Given the description of an element on the screen output the (x, y) to click on. 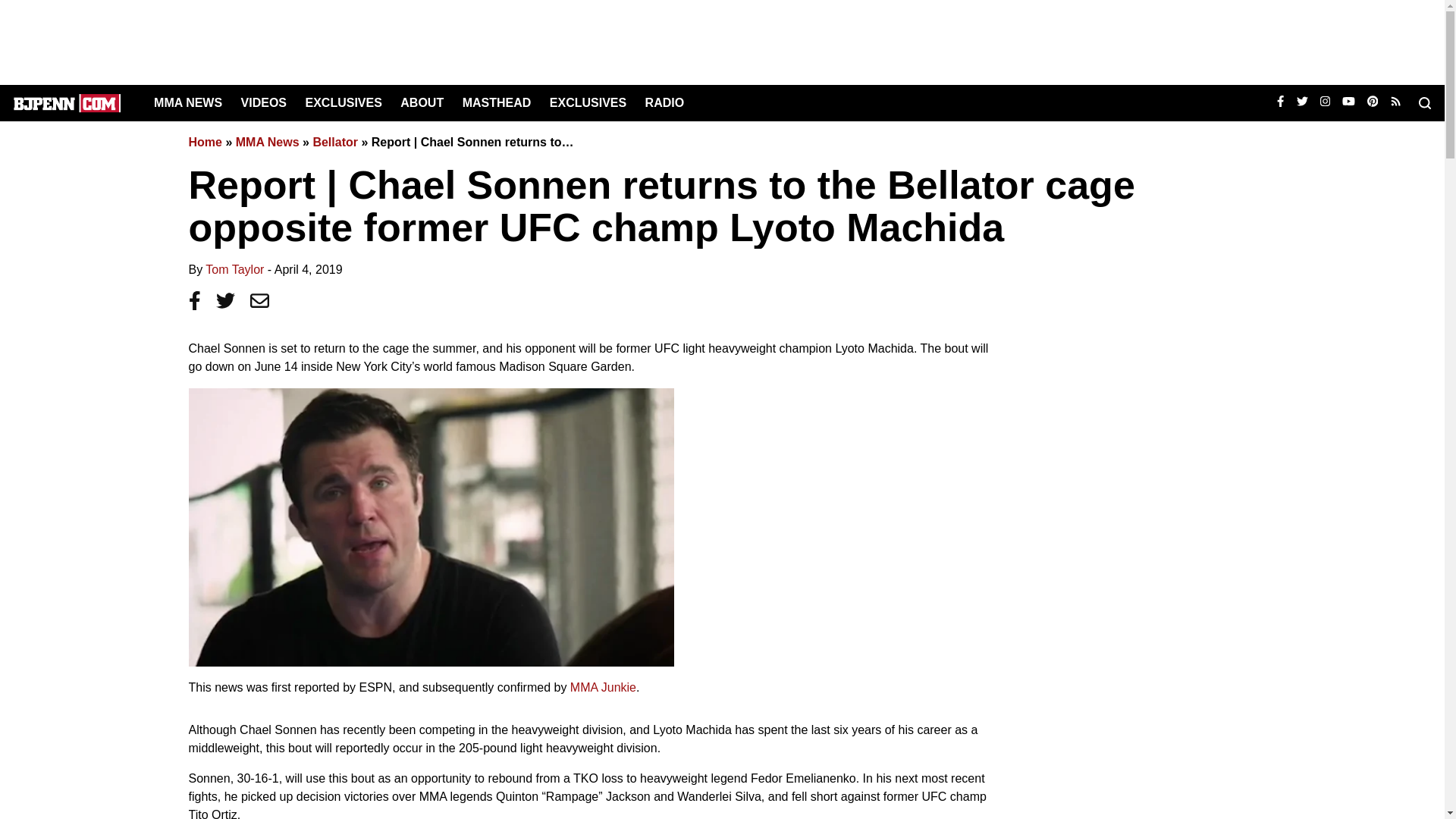
RADIO (664, 102)
ABOUT (422, 102)
EXCLUSIVES (342, 102)
EXCLUSIVES (588, 102)
MASTHEAD (497, 102)
MMA NEWS (188, 102)
VIDEOS (263, 102)
